Given the description of an element on the screen output the (x, y) to click on. 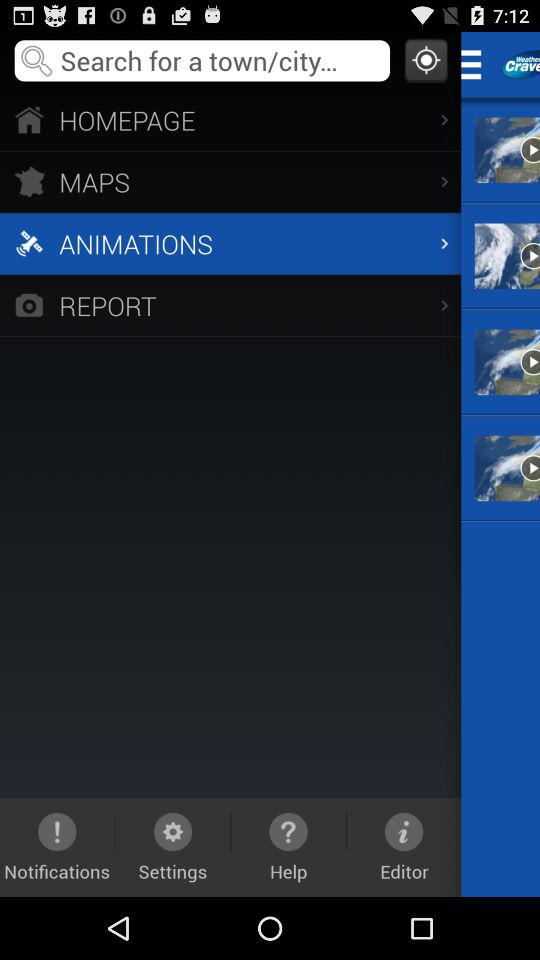
switch menu option (477, 63)
